Given the description of an element on the screen output the (x, y) to click on. 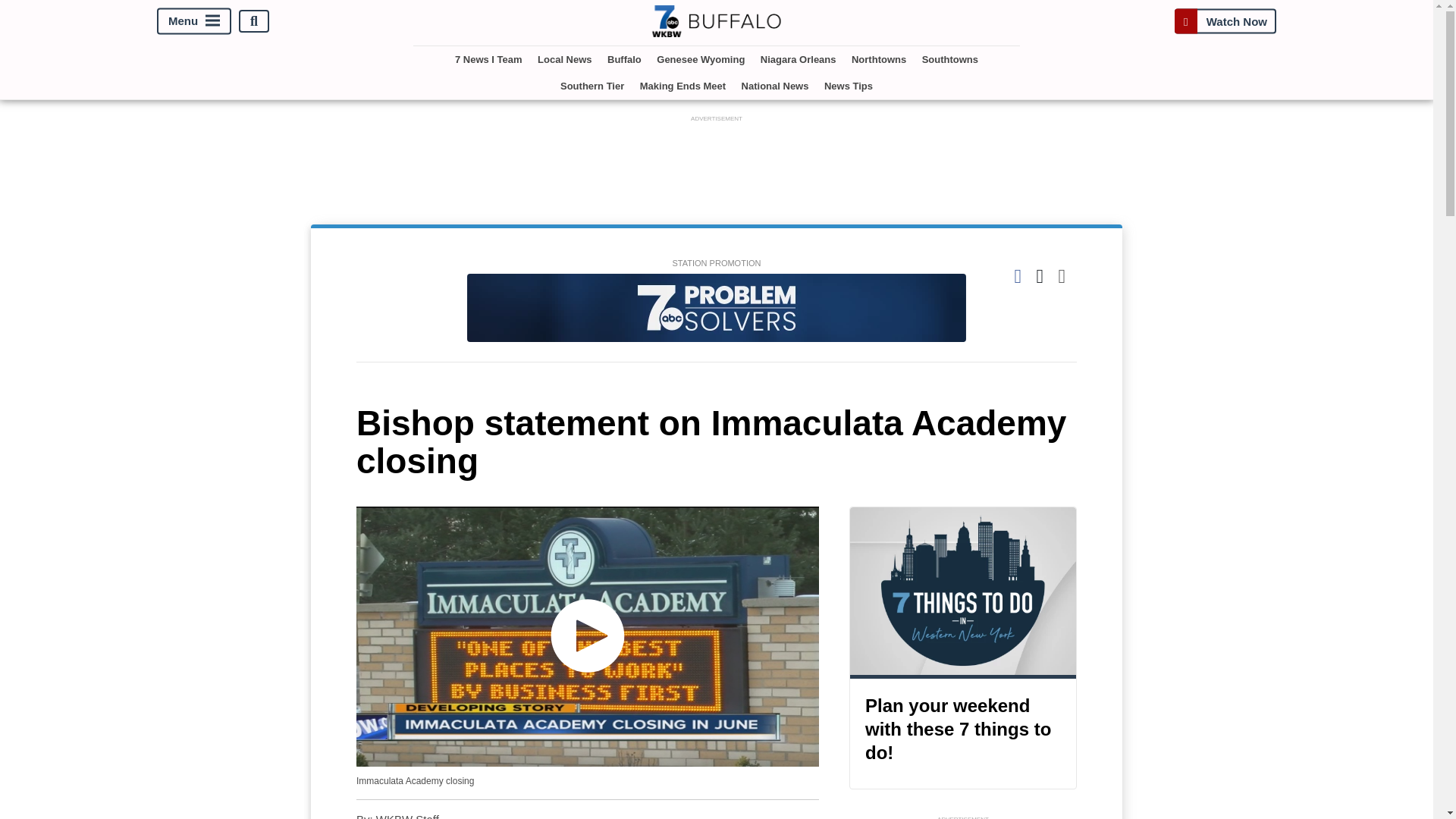
Watch Now (1224, 21)
3rd party ad content (716, 160)
Menu (194, 21)
